Given the description of an element on the screen output the (x, y) to click on. 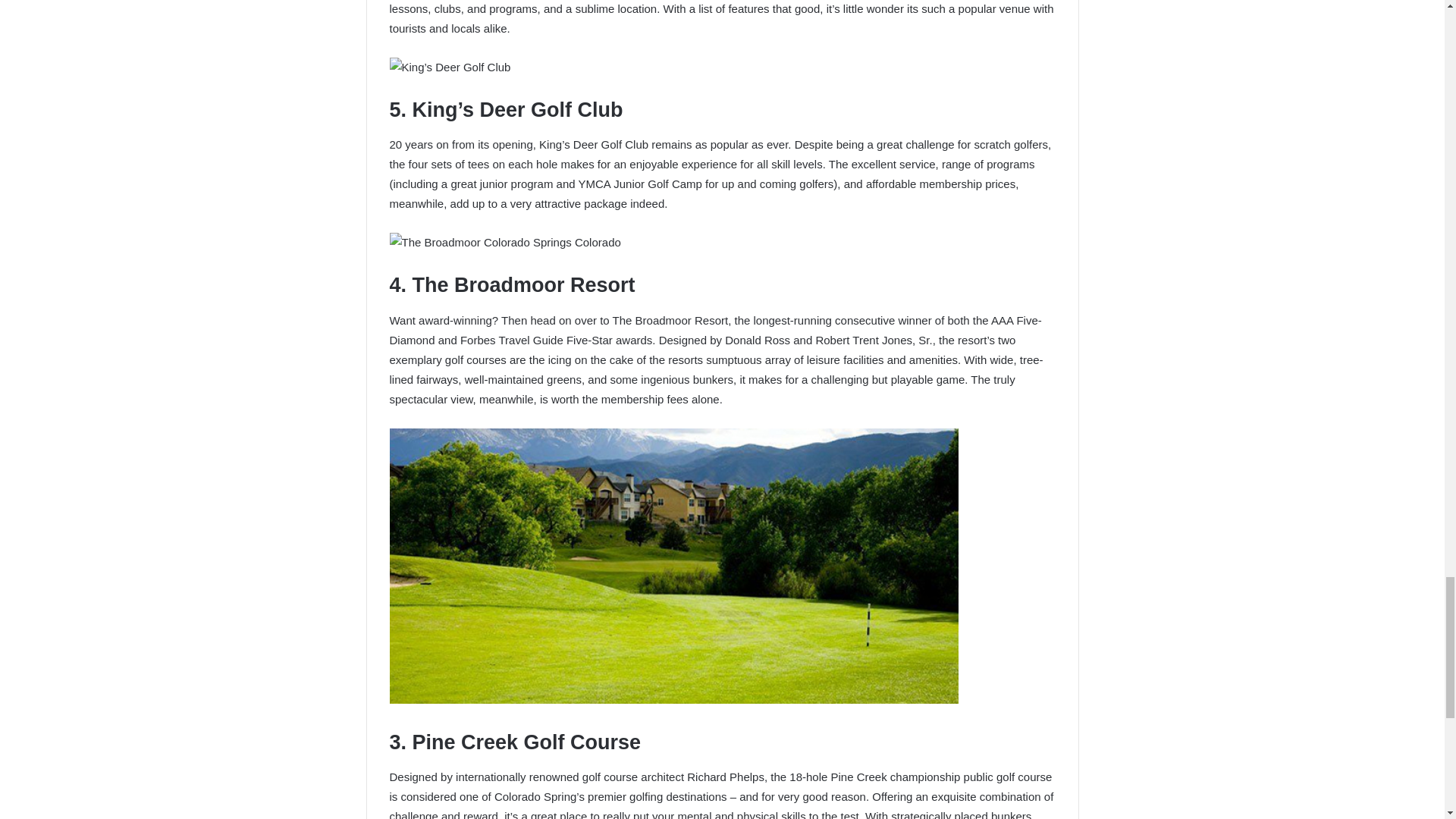
The 10 Best Golf Courses in Colorado Springs 8 (505, 242)
The 10 Best Golf Courses in Colorado Springs 7 (450, 66)
